Given the description of an element on the screen output the (x, y) to click on. 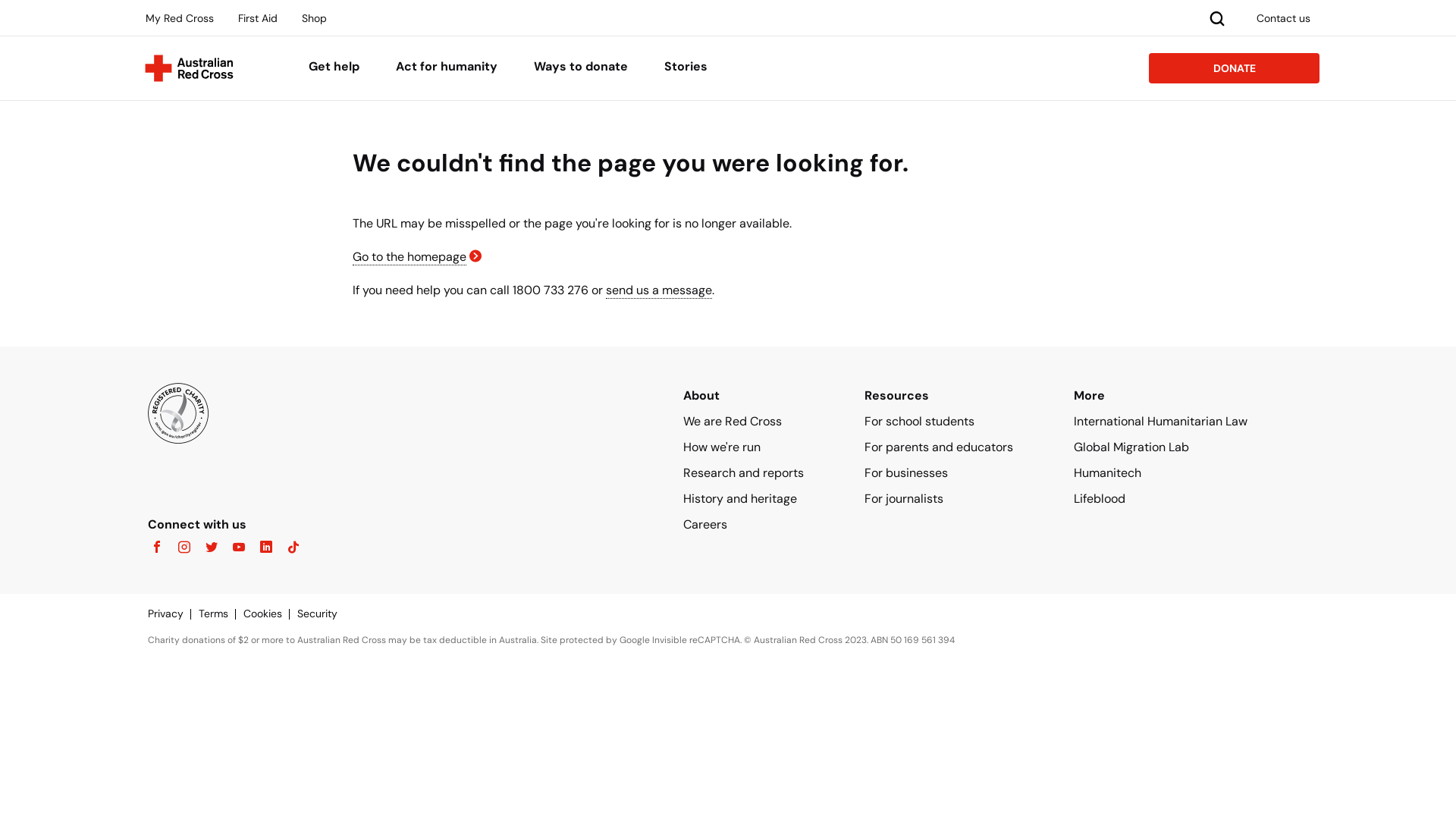
linkedin Element type: hover (261, 547)
For parents and educators Element type: text (938, 447)
We are Red Cross Element type: text (732, 421)
Get help Element type: text (333, 68)
Ways to donate Element type: text (580, 68)
First Aid Element type: text (257, 17)
tiktok Element type: hover (288, 547)
Privacy Element type: text (172, 613)
send us a message Element type: text (658, 290)
DONATE Element type: text (1233, 68)
International Humanitarian Law Element type: text (1160, 421)
Global Migration Lab Element type: text (1131, 447)
instagram Element type: hover (179, 547)
For businesses Element type: text (905, 472)
Lifeblood Element type: text (1099, 498)
Security Element type: text (324, 613)
Careers Element type: text (705, 524)
More Element type: text (1088, 395)
Act for humanity Element type: text (446, 68)
Resources Element type: text (896, 395)
For school students Element type: text (919, 421)
History and heritage Element type: text (740, 498)
Stories Element type: text (685, 68)
facebook Element type: hover (156, 547)
Terms Element type: text (220, 613)
My Red Cross Element type: text (179, 17)
Cookies Element type: text (270, 613)
Go to the homepage Element type: text (409, 256)
For journalists Element type: text (903, 498)
Shop Element type: text (313, 17)
How we're run Element type: text (721, 447)
Contact us Element type: text (1283, 17)
Research and reports Element type: text (743, 472)
About Element type: text (701, 395)
twitter Element type: hover (206, 547)
Search Element type: text (1216, 17)
youtube Element type: hover (233, 547)
Humanitech Element type: text (1107, 472)
